Given the description of an element on the screen output the (x, y) to click on. 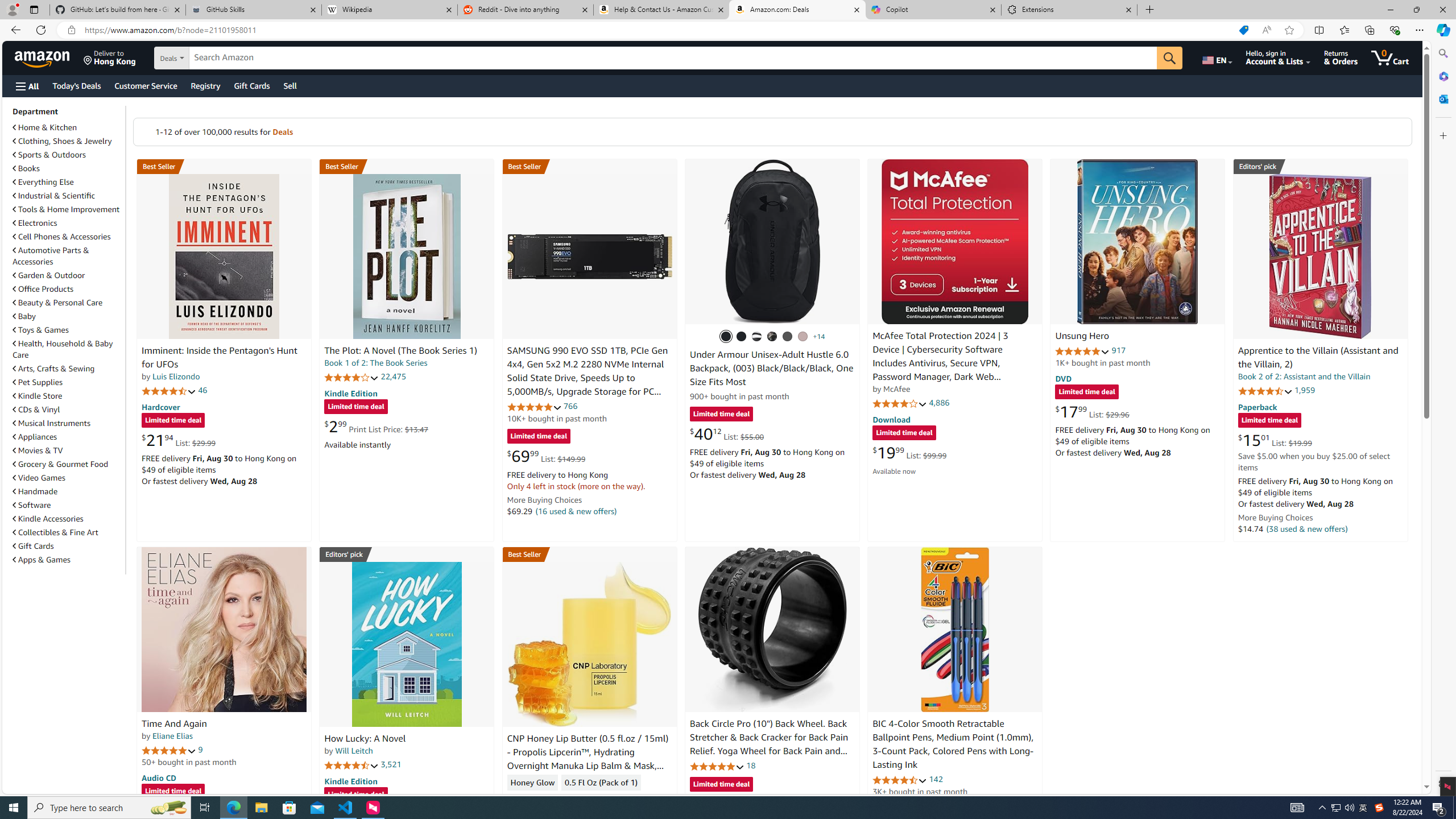
Hardcover (160, 406)
Electronics (67, 222)
Choose a language for shopping. (1216, 57)
Automotive Parts & Accessories (67, 255)
CDs & Vinyl (36, 409)
Unsung Hero (1082, 336)
Home & Kitchen (67, 127)
Deliver to Hong Kong (109, 57)
Beauty & Personal Care (58, 302)
46 (203, 390)
Best Seller in Heist Thrillers (406, 165)
Shopping in Microsoft Edge (1243, 29)
